Given the description of an element on the screen output the (x, y) to click on. 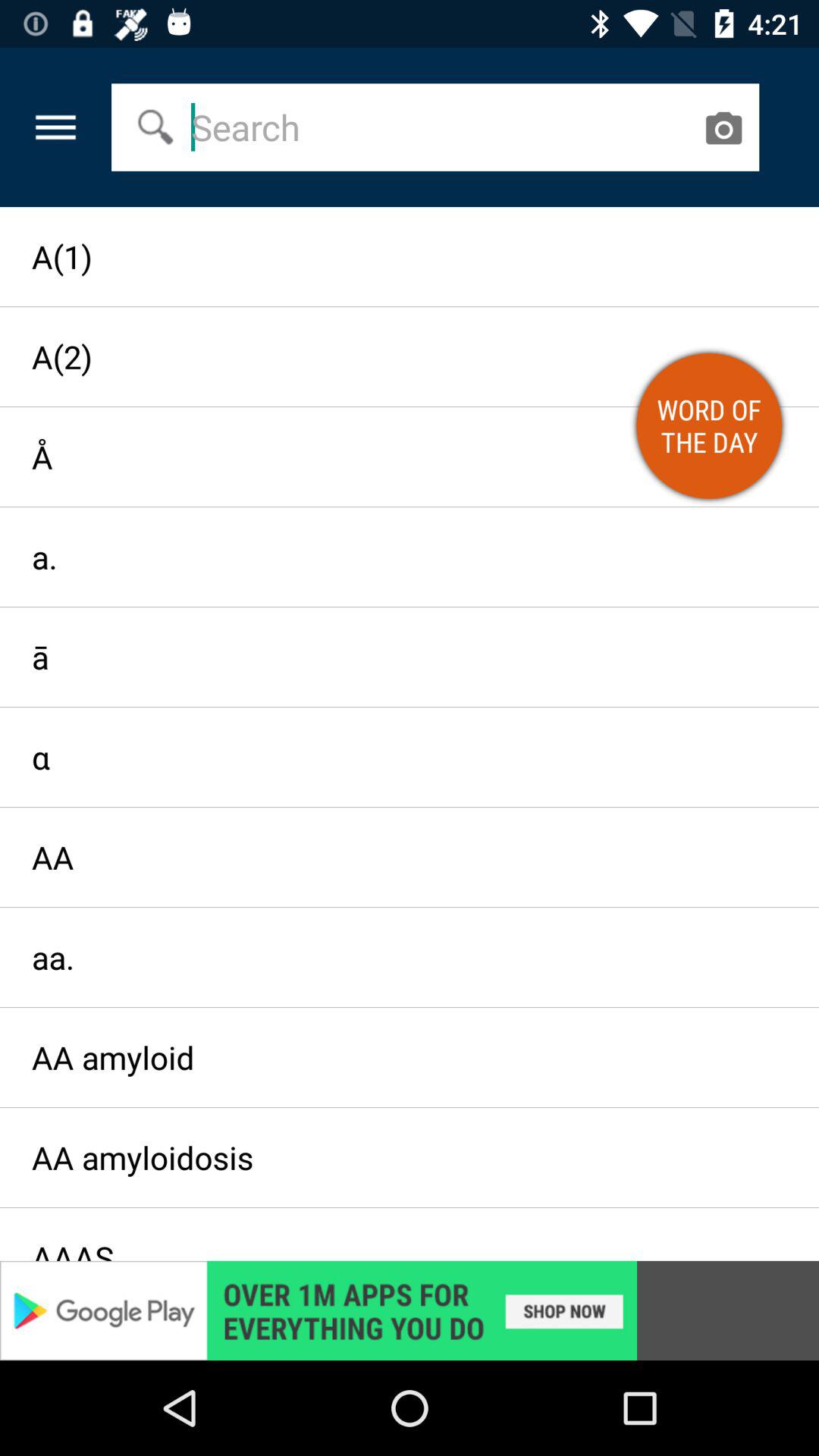
open camera (723, 127)
